Given the description of an element on the screen output the (x, y) to click on. 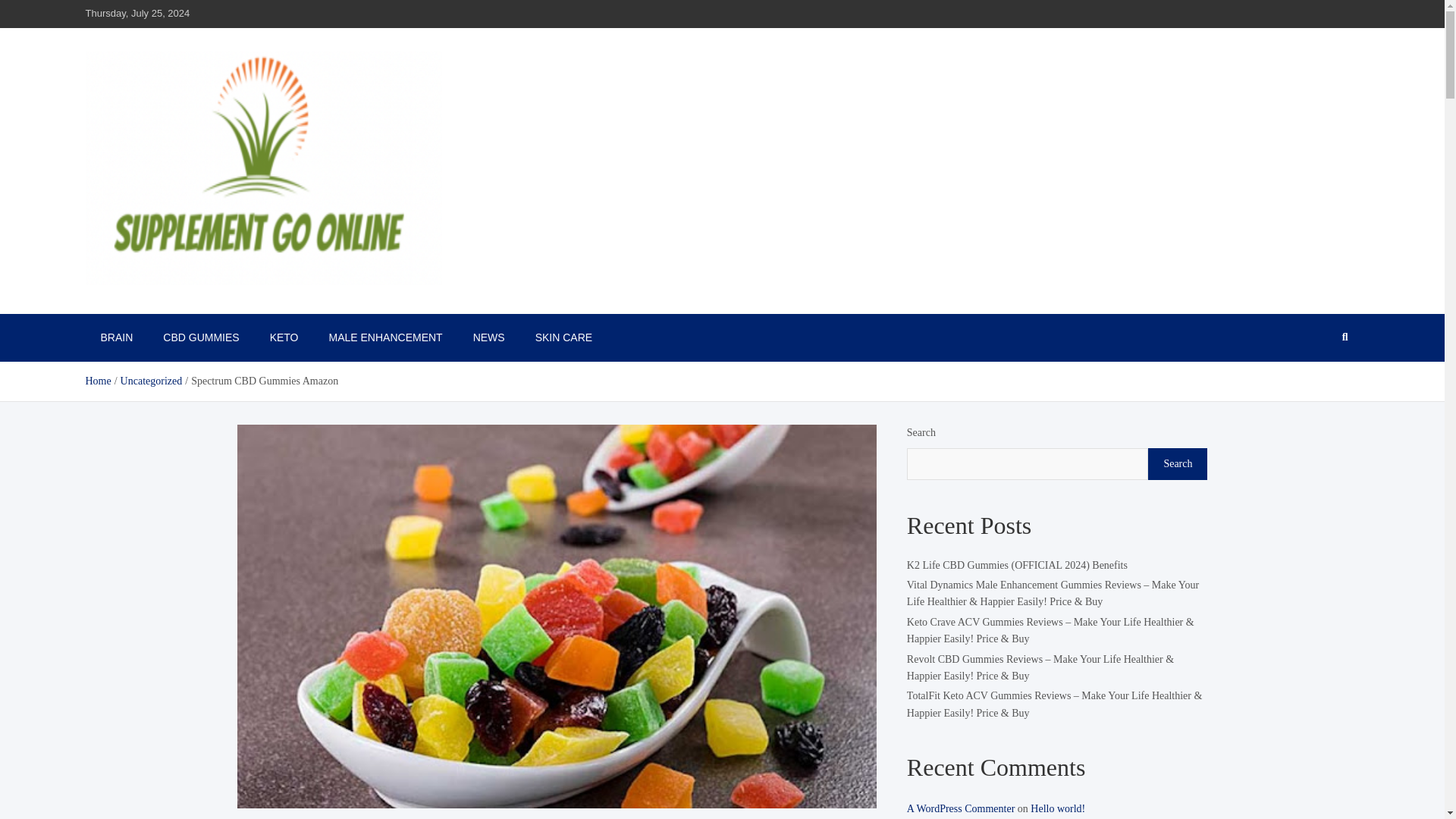
Supplement Go Online (202, 306)
Uncategorized (151, 380)
MALE ENHANCEMENT (386, 337)
BRAIN (116, 337)
NEWS (488, 337)
SKIN CARE (563, 337)
KETO (284, 337)
CBD GUMMIES (200, 337)
Home (97, 380)
